Given the description of an element on the screen output the (x, y) to click on. 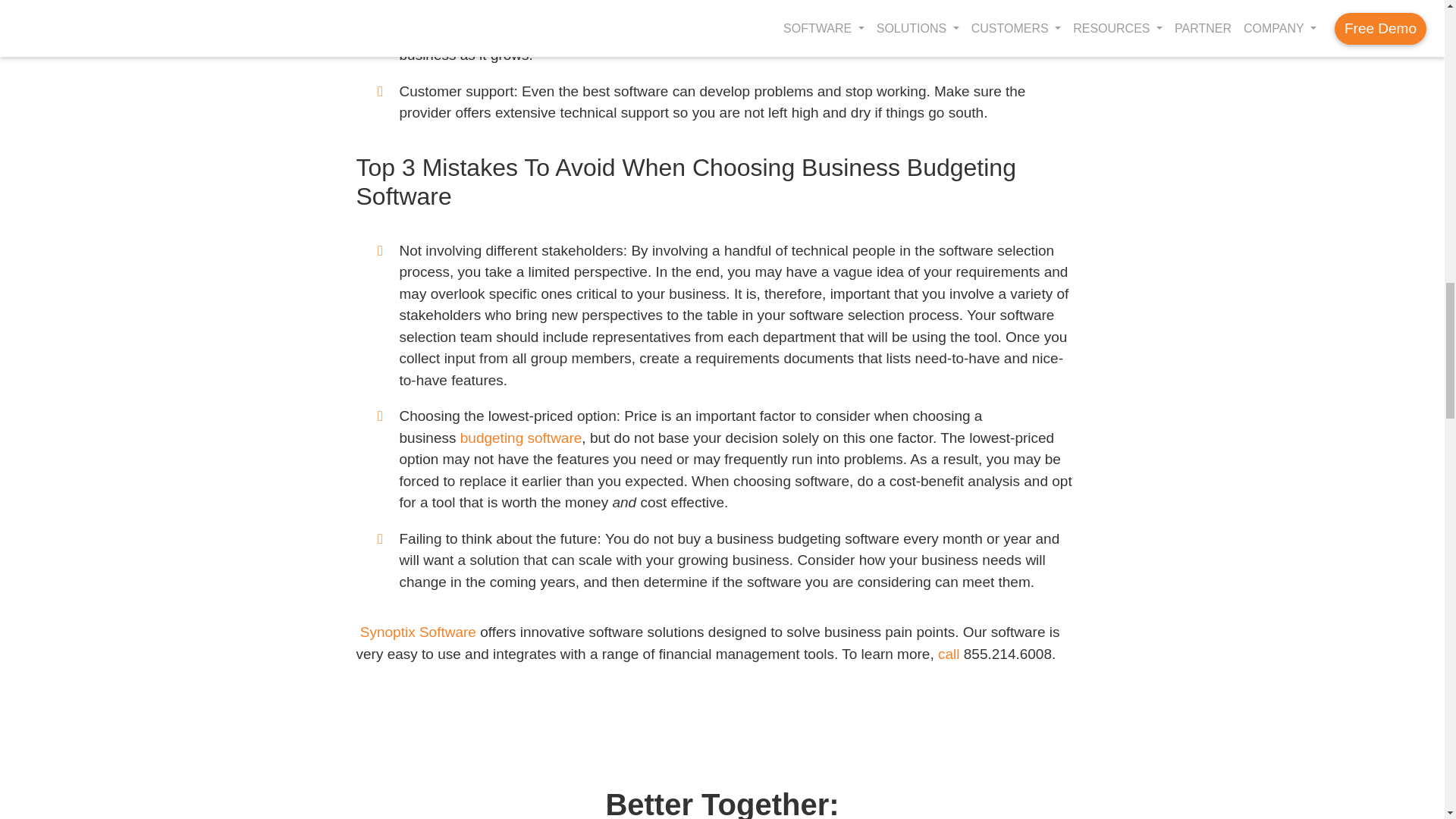
 Synoptix Software (416, 631)
call (948, 653)
budgeting software (521, 437)
